Given the description of an element on the screen output the (x, y) to click on. 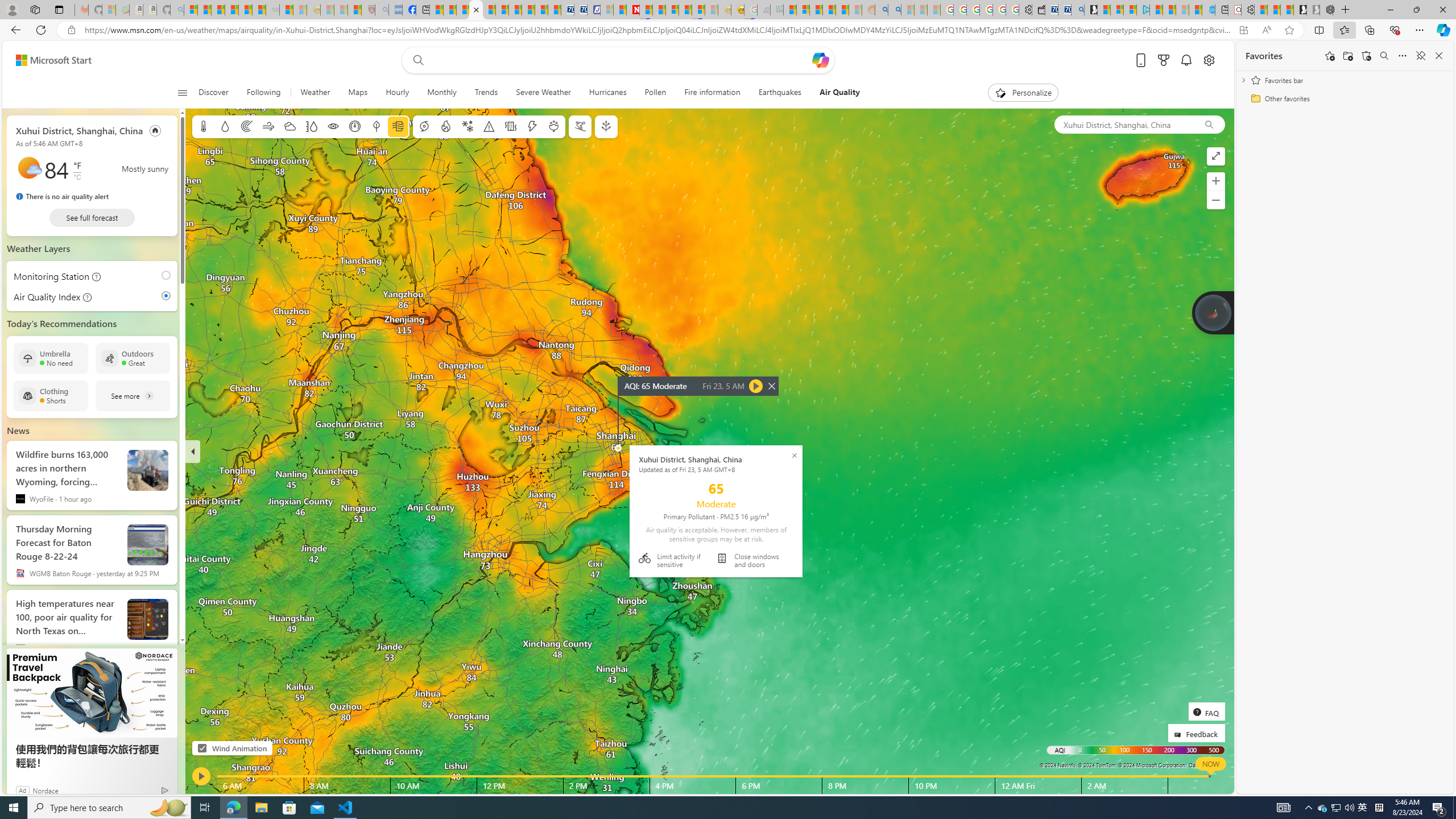
Open Copilot (819, 59)
Discover (217, 92)
Winter weather (467, 126)
Monitoring Station (167, 275)
Ad (22, 790)
NCL Adult Asthma Inhaler Choice Guideline - Sleeping (395, 9)
Zoom out (1215, 199)
Microsoft rewards (1162, 60)
Maps (358, 92)
